Given the description of an element on the screen output the (x, y) to click on. 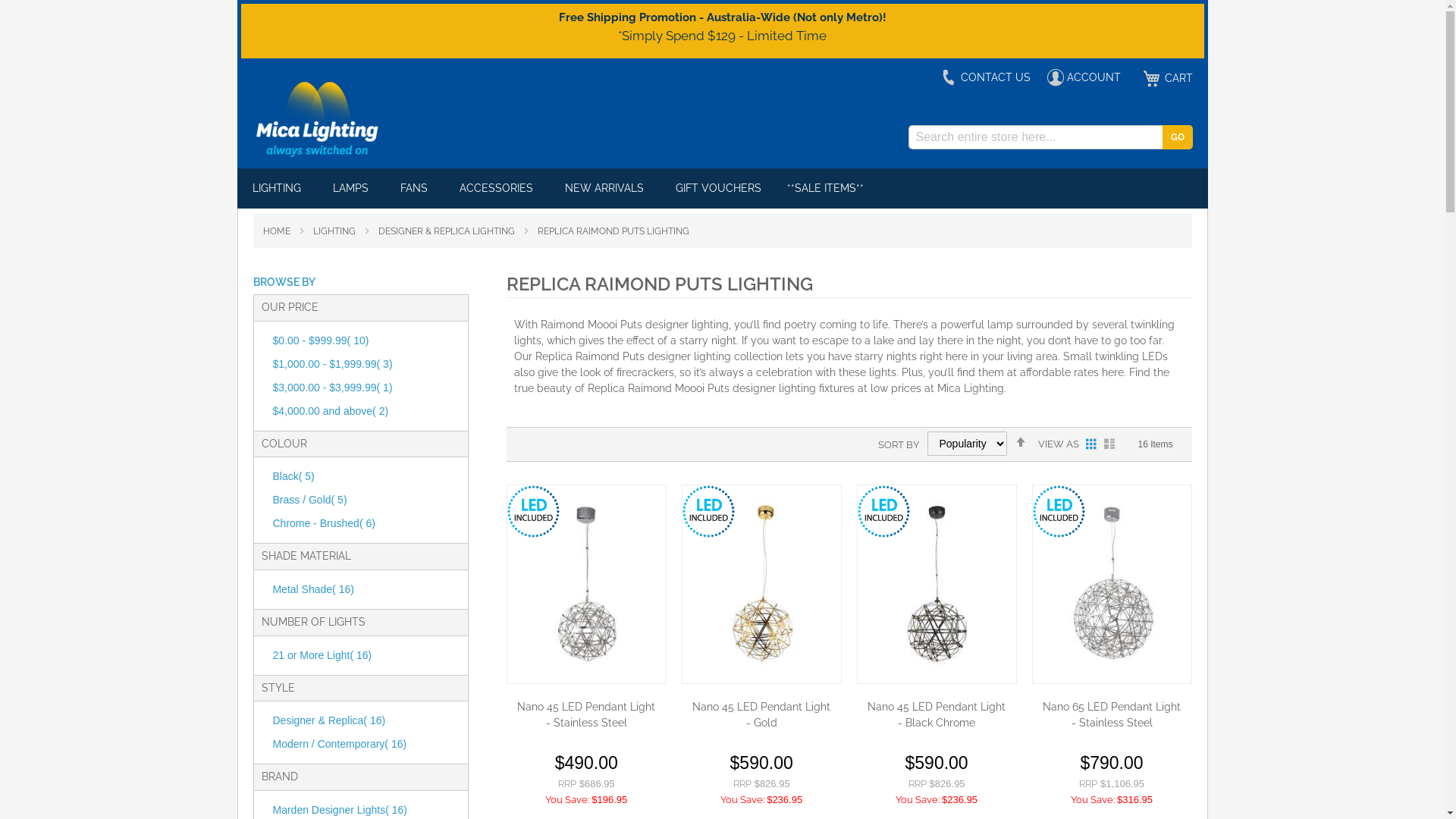
Nano 45 LED Pendant Light - Stainless Steel Element type: text (586, 715)
HOME Element type: text (277, 230)
Nano 65 LED Pendant Light - Stainless Steel Element type: text (1111, 715)
Designer & Replica 16
item Element type: text (329, 720)
21 or More Light 16
item Element type: text (322, 655)
$4,000.00 and above 2
item Element type: text (331, 410)
CART Element type: text (1164, 78)
*Simply Spend $129 - Limited Time Element type: text (722, 34)
Set Descending Direction Element type: text (1020, 441)
Nano 45 LED Pendant Light - Black Chrome Element type: text (936, 715)
$0.00 - $999.99 10
item Element type: text (321, 340)
$3,000.00 - $3,999.99 1
item Element type: text (332, 387)
Brass / Gold 5
item Element type: text (310, 499)
Nano 45 LED Pendant Light - Gold Element type: text (761, 715)
Modern / Contemporary 16
item Element type: text (340, 743)
$1,000.00 - $1,999.99 3
item Element type: text (332, 363)
Marden Designer Lights 16
item Element type: text (340, 809)
ACCESSORIES Element type: text (499, 188)
FANS Element type: text (416, 188)
**SALE ITEMS** Element type: text (825, 188)
CONTACT US Element type: text (985, 77)
List Element type: text (1109, 444)
Chrome - Brushed 6
item Element type: text (324, 523)
Black 5
item Element type: text (293, 476)
Search Element type: text (1176, 137)
GIFT VOUCHERS Element type: text (717, 188)
Metal Shade 16
item Element type: text (313, 589)
DESIGNER & REPLICA LIGHTING Element type: text (447, 230)
LAMPS Element type: text (352, 188)
NEW ARRIVALS Element type: text (606, 188)
LIGHTING Element type: text (278, 188)
LIGHTING Element type: text (335, 230)
